Given the description of an element on the screen output the (x, y) to click on. 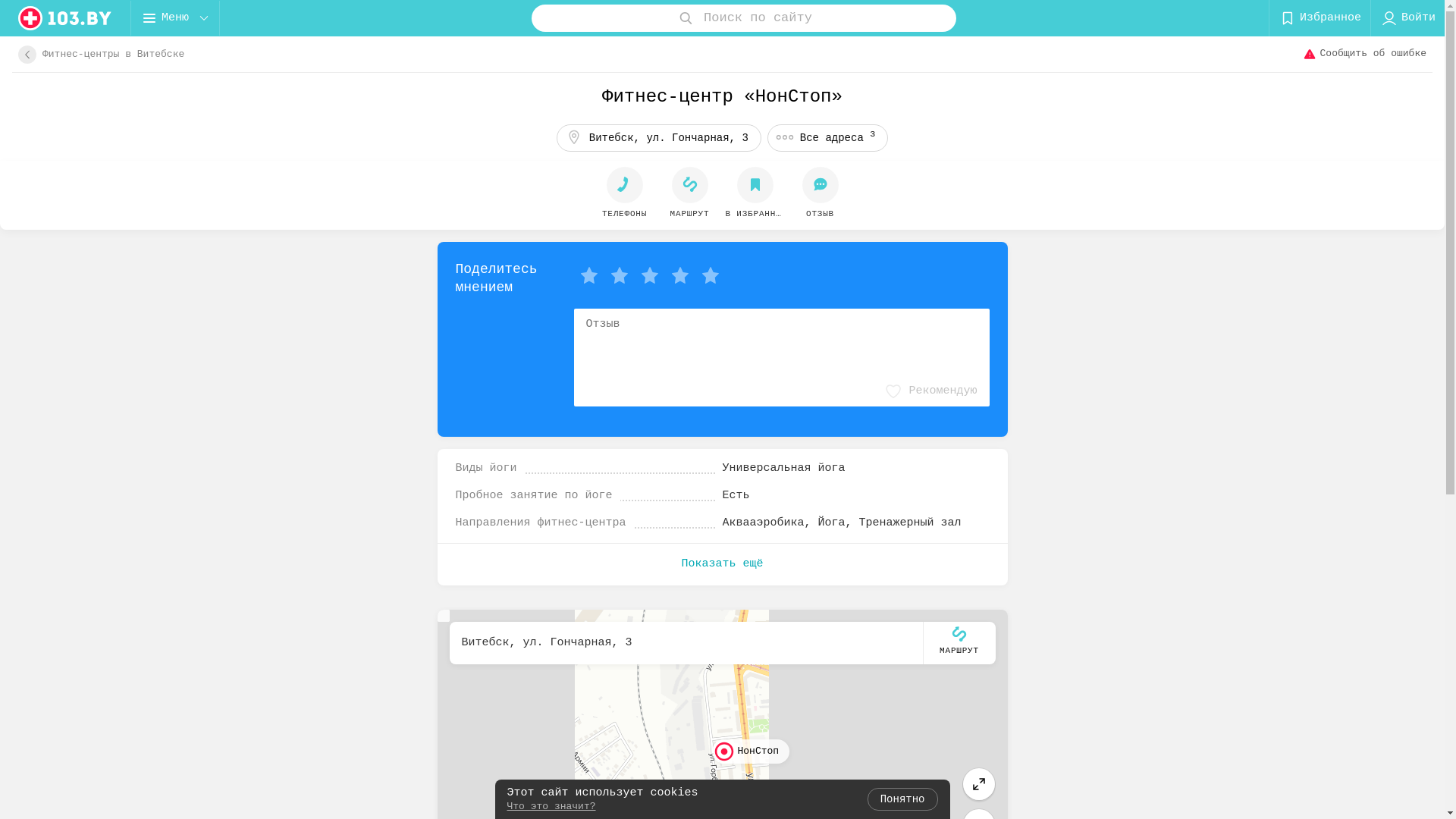
logo Element type: hover (65, 18)
